Given the description of an element on the screen output the (x, y) to click on. 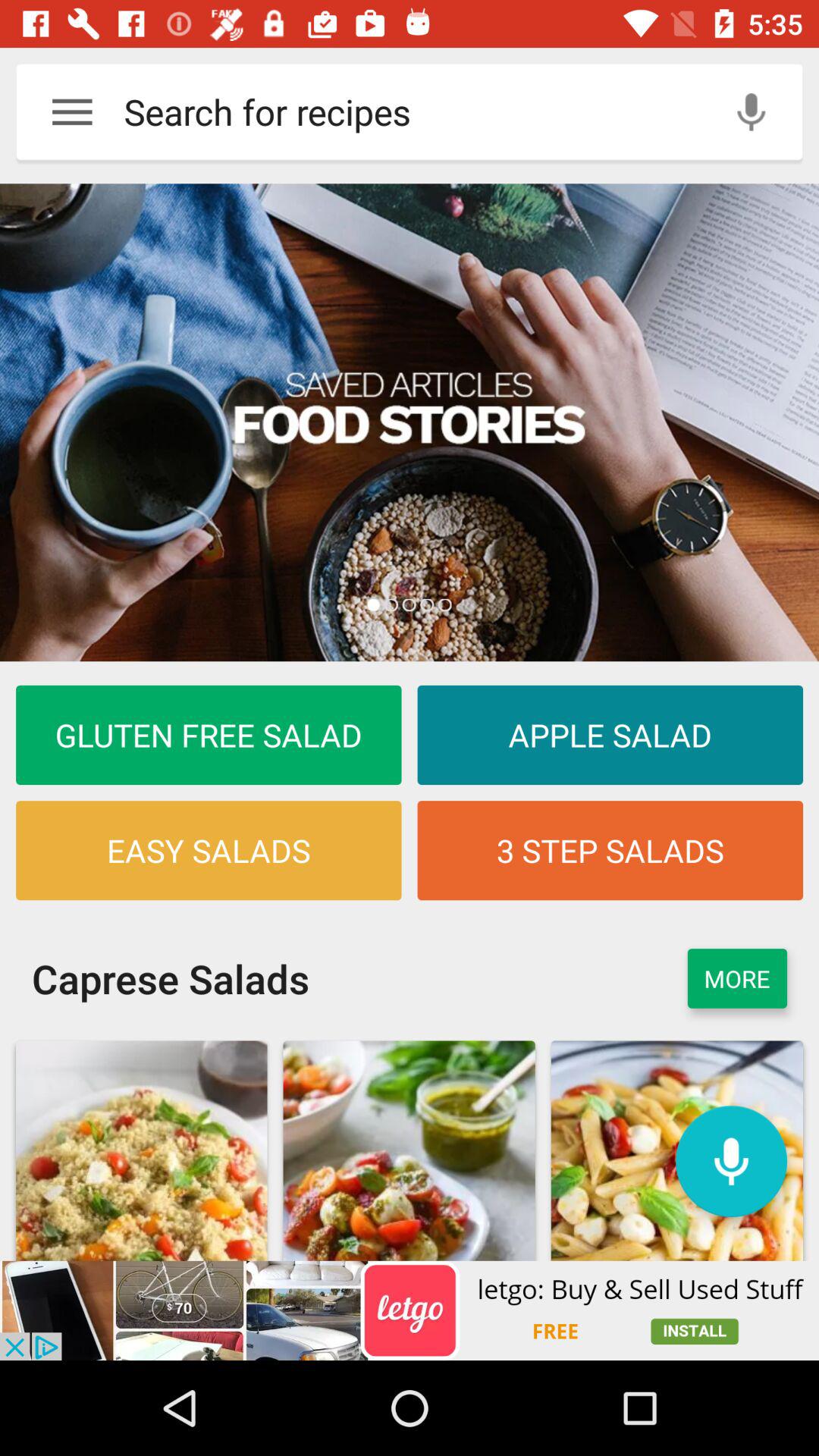
select the menu bar which is at first top left side of the page (72, 111)
select the second image which is under the caprese salads (409, 1150)
click on the first image which is below caprese salads (141, 1150)
select the text 3 steps salads which is on the right  hand side (610, 849)
